Given the description of an element on the screen output the (x, y) to click on. 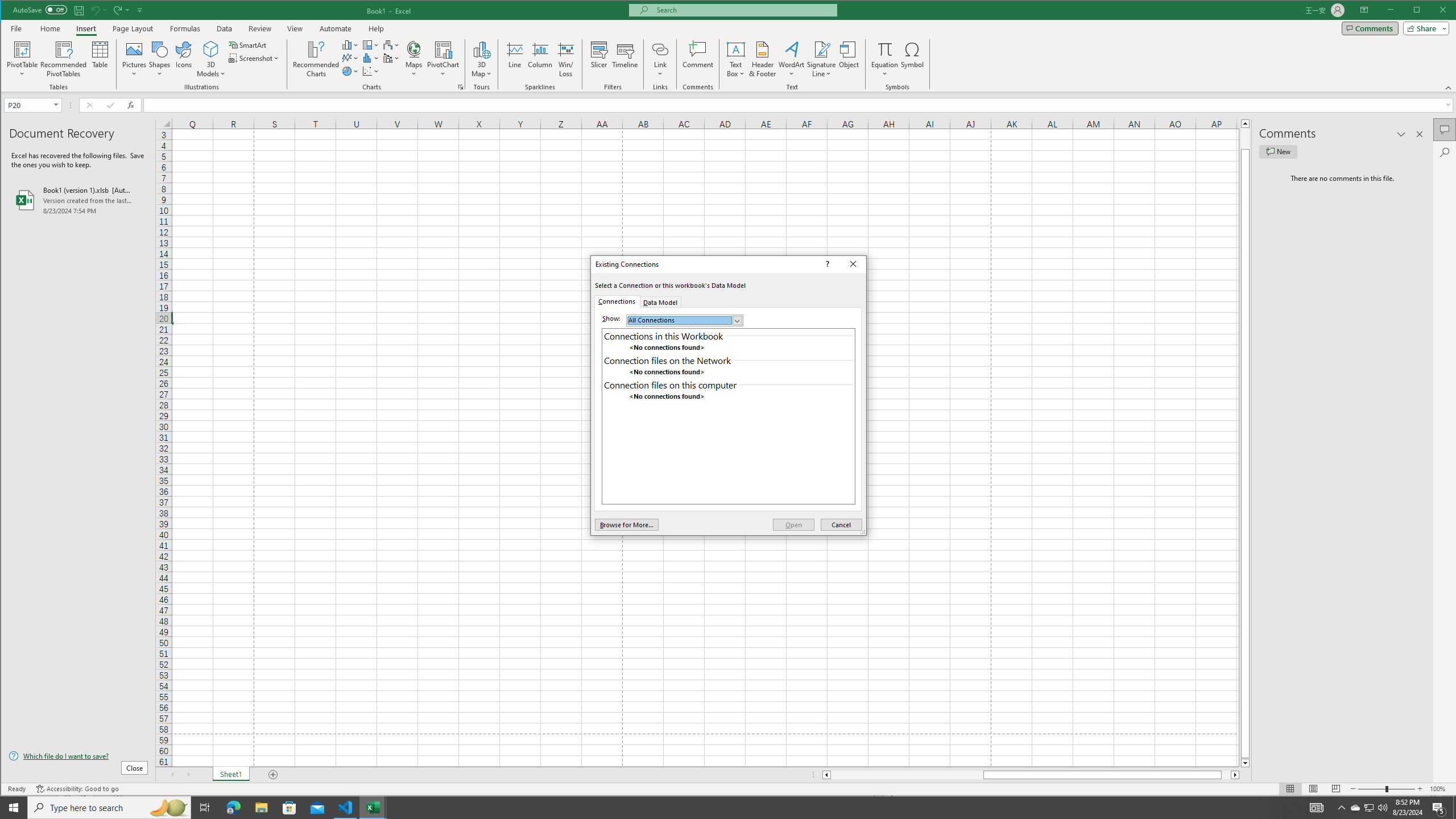
Table (100, 59)
Text Box (735, 59)
Header & Footer... (762, 59)
Close (853, 263)
Insert Scatter (X, Y) or Bubble Chart (371, 70)
Class: MsoCommandBar (728, 45)
Equation (884, 48)
Column left (826, 774)
Customize Quick Access Toolbar (140, 9)
Task Pane Options (1400, 133)
Data (224, 28)
Ribbon Display Options (1364, 9)
Visual Studio Code - 1 running window (345, 807)
<No connections found> (728, 396)
Running applications (717, 807)
